Given the description of an element on the screen output the (x, y) to click on. 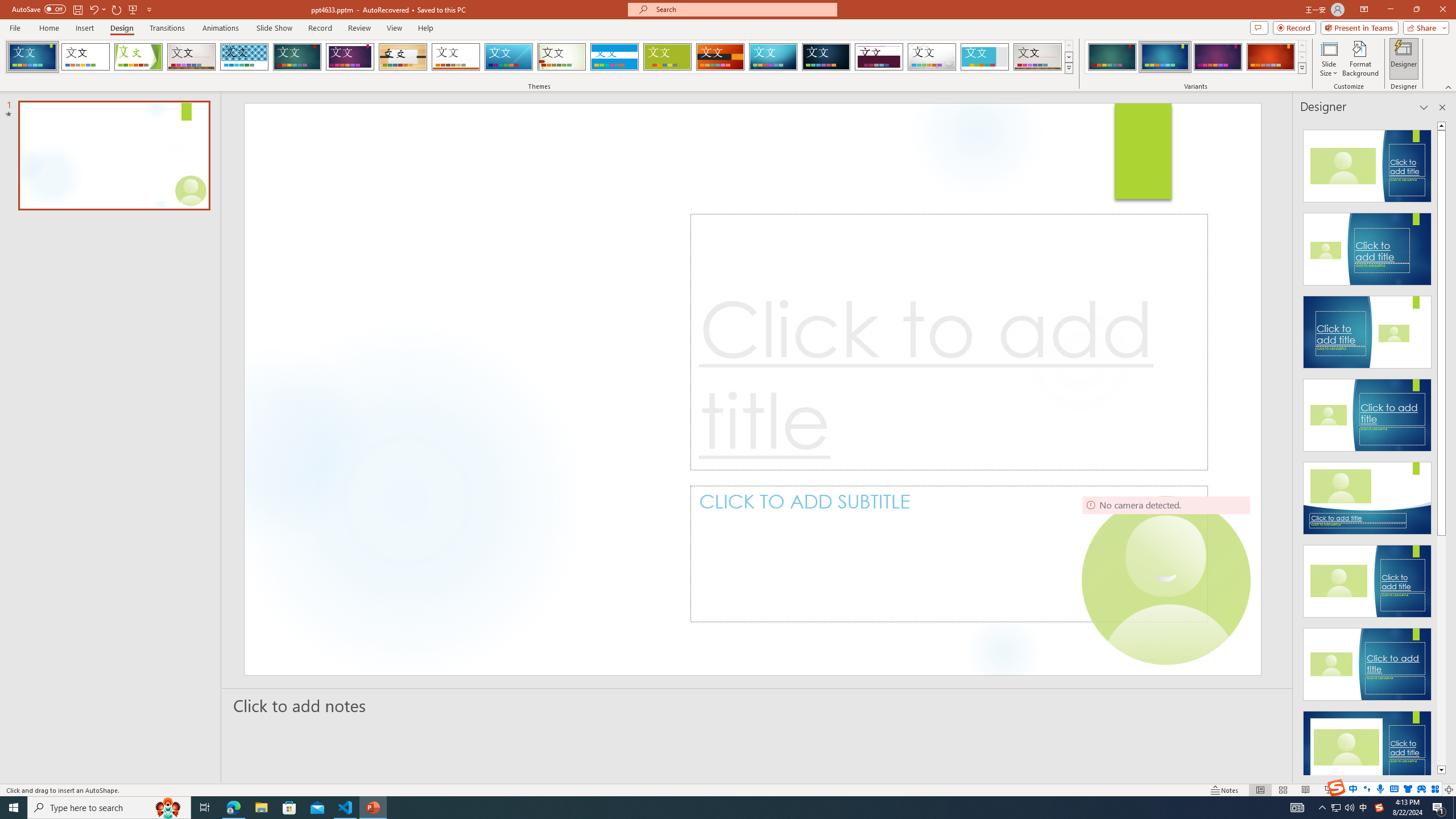
Ion Variant 2 (1164, 56)
Ribbon Display Options (1364, 9)
AutoSave (38, 9)
Ion Variant 4 (1270, 56)
Present in Teams (1359, 27)
Circuit Loading Preview... (772, 56)
Class: NetUIScrollBar (1441, 447)
Banded Loading Preview... (614, 56)
Customize Quick Access Toolbar (149, 9)
Frame Loading Preview... (984, 56)
Format Background (1360, 58)
Zoom to Fit  (1449, 790)
Help (425, 28)
